Given the description of an element on the screen output the (x, y) to click on. 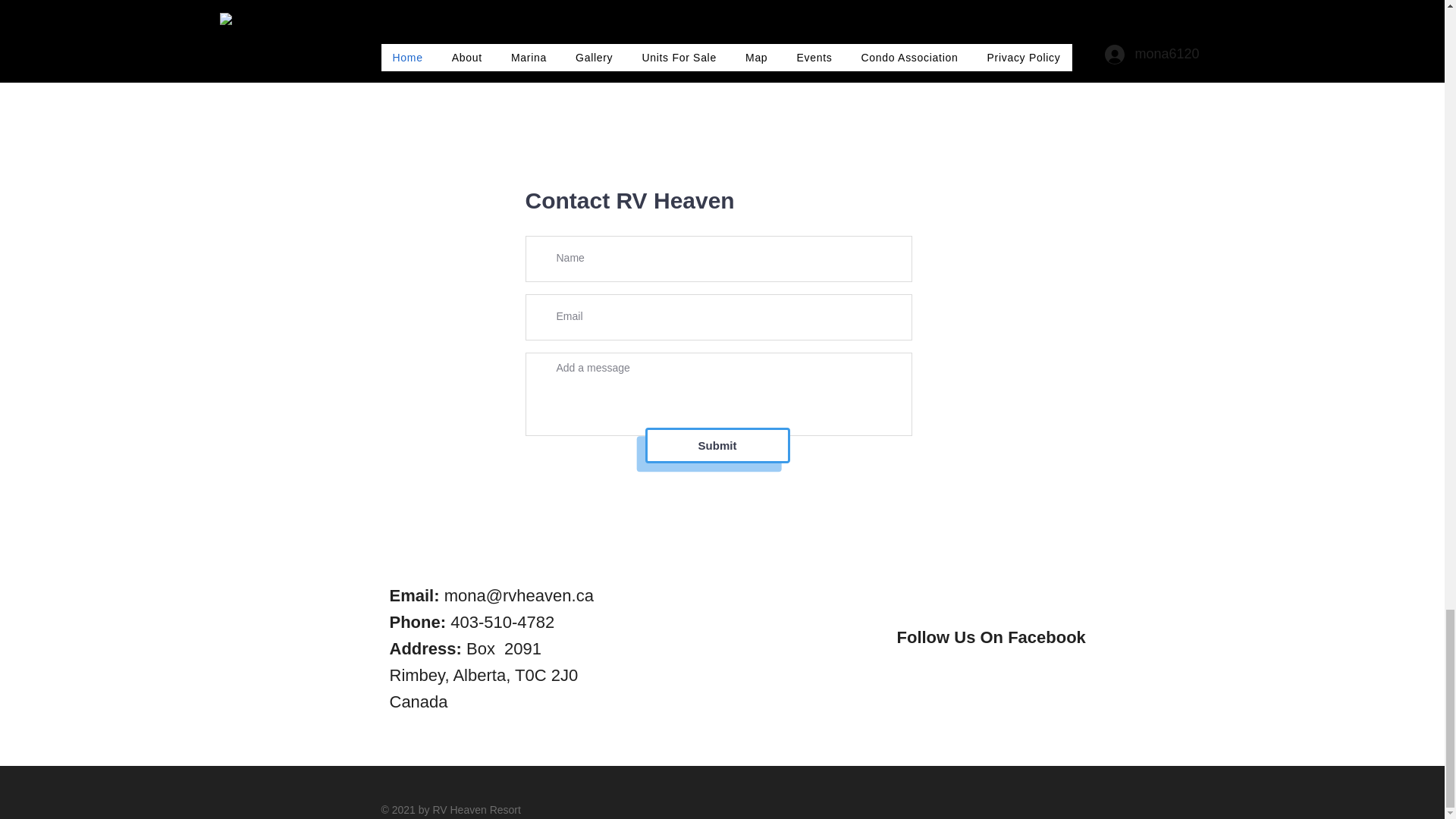
Submit (717, 445)
Rimbey, Alberta, T0C 2J0 Canada (484, 688)
403-510-4782 (501, 621)
Address: Box  2091 (465, 648)
